Given the description of an element on the screen output the (x, y) to click on. 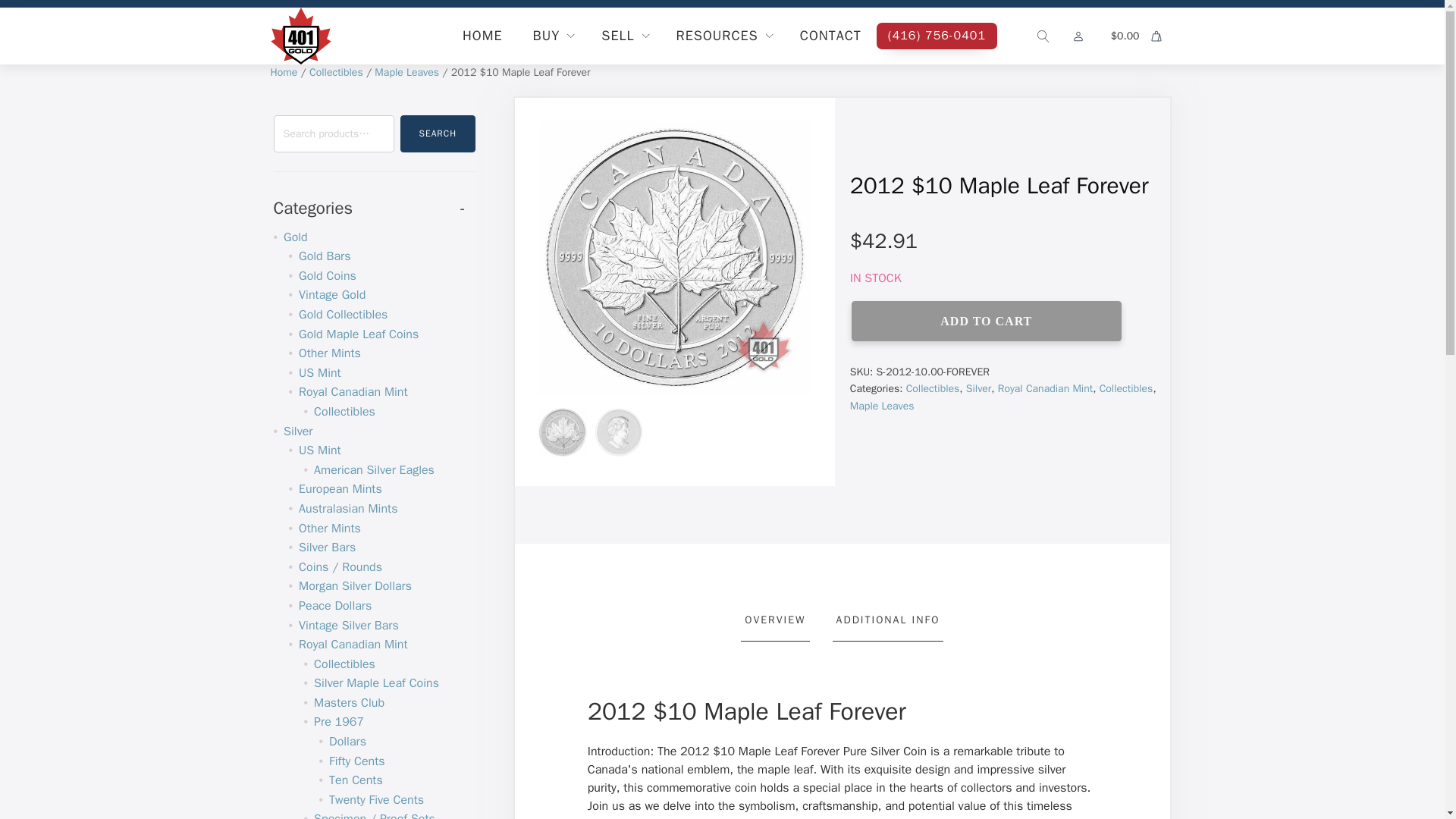
HOME (482, 35)
